Given the description of an element on the screen output the (x, y) to click on. 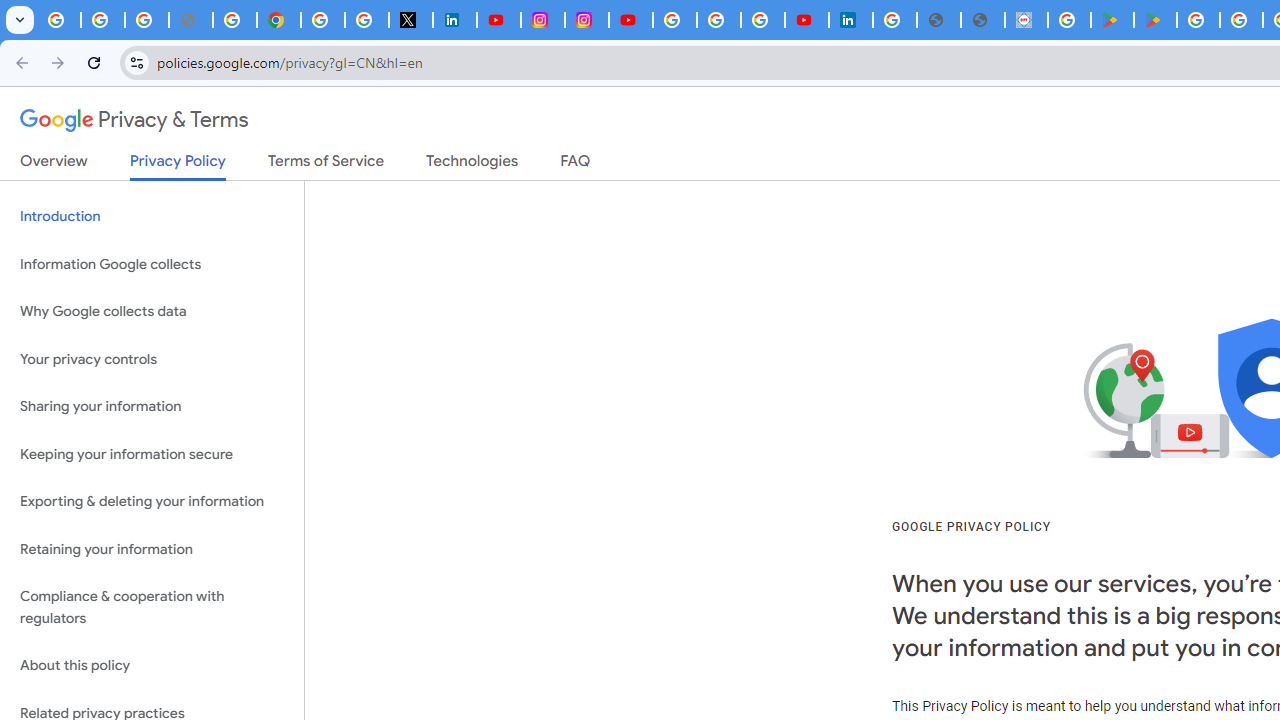
Forward (57, 62)
About this policy (152, 666)
PAW Patrol Rescue World - Apps on Google Play (1155, 20)
Android Apps on Google Play (1112, 20)
google_privacy_policy_en.pdf (938, 20)
Terms of Service (326, 165)
Sign in - Google Accounts (894, 20)
FAQ (575, 165)
Your privacy controls (152, 358)
Keeping your information secure (152, 453)
Privacy Help Center - Policies Help (234, 20)
